Given the description of an element on the screen output the (x, y) to click on. 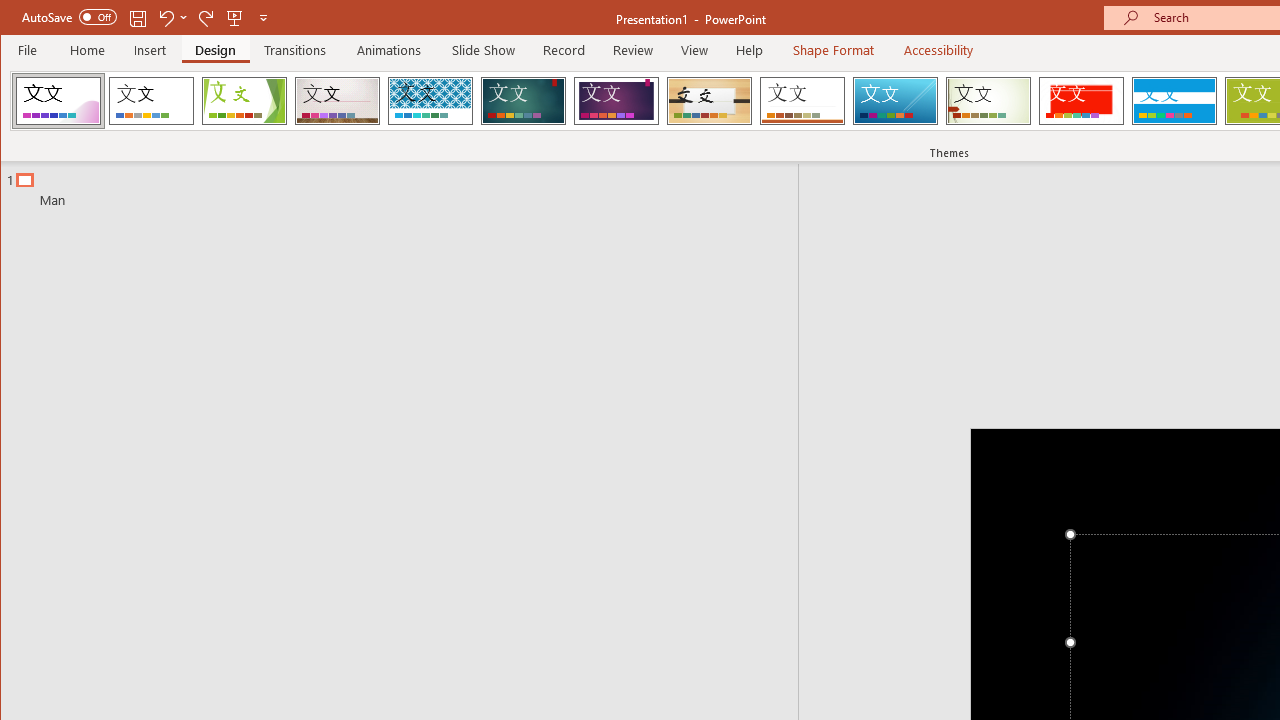
Wisp (988, 100)
Integral (430, 100)
Atlas (1081, 100)
Office Theme (151, 100)
Slice (895, 100)
SwellVTI (57, 100)
